Given the description of an element on the screen output the (x, y) to click on. 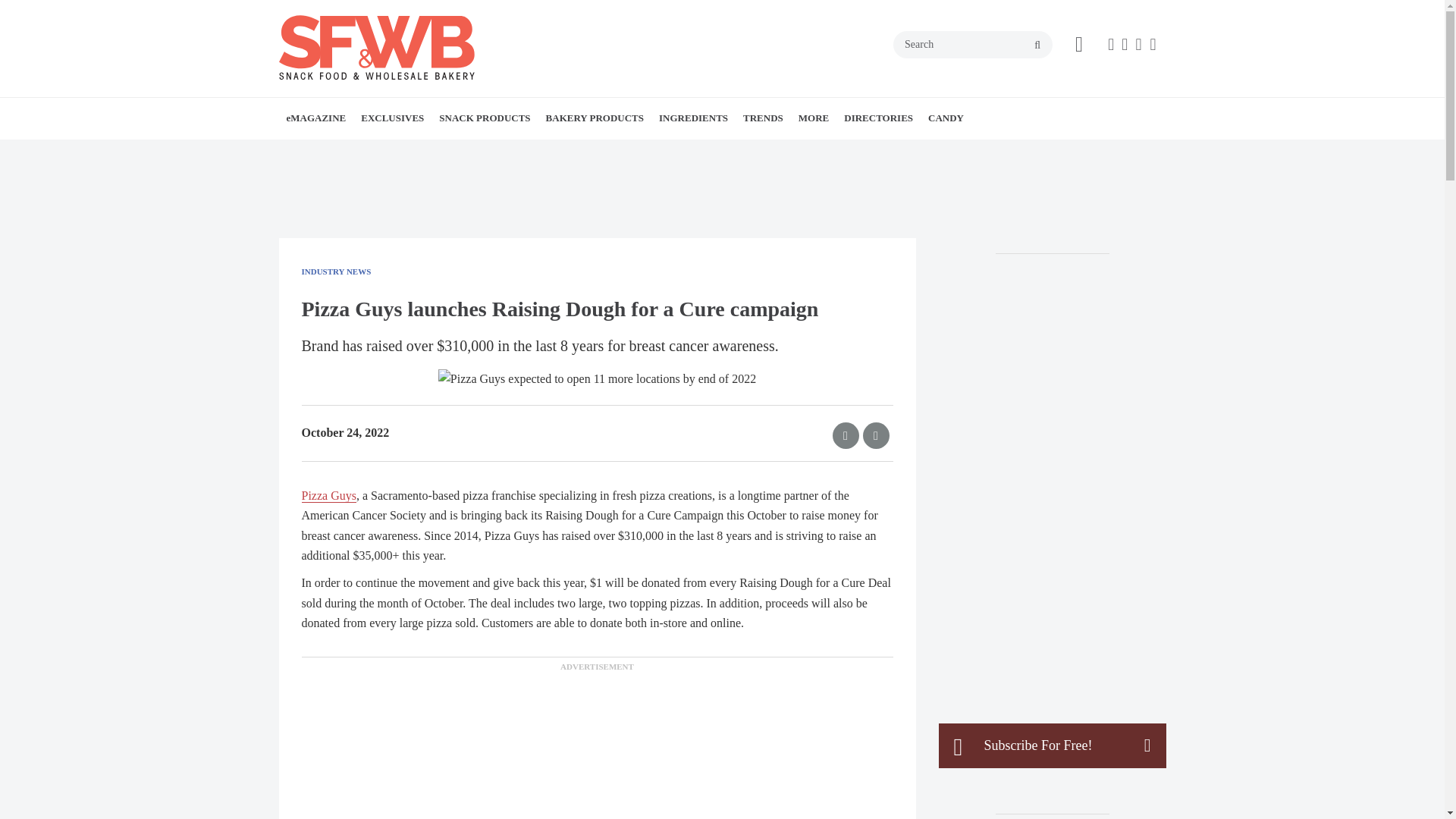
PRETZELS (557, 151)
Search (972, 44)
CRACKERS (539, 151)
eMAGAZINE (316, 117)
SNACK PRODUCTS (483, 117)
SNACK PRODUCER OF THE YEAR (467, 151)
SIGN UP! (397, 151)
Search (972, 44)
NEW PRODUCTS (525, 151)
EQUIPMENT (448, 151)
